Given the description of an element on the screen output the (x, y) to click on. 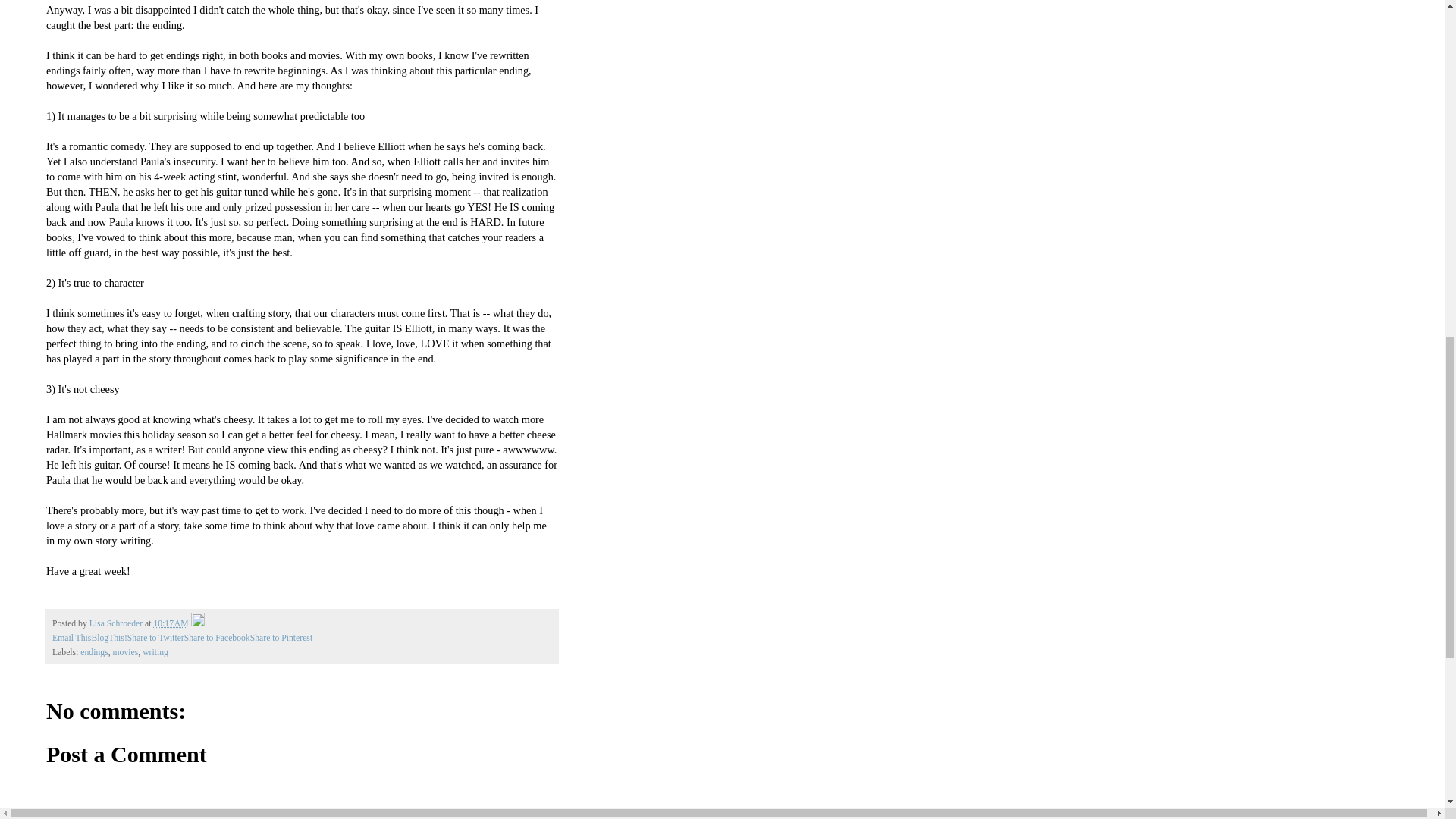
Share to Twitter (156, 637)
Share to Pinterest (281, 637)
endings (93, 652)
author profile (116, 623)
BlogThis! (108, 637)
Edit Post (197, 623)
Email This (71, 637)
movies (125, 652)
Email This (71, 637)
